Given the description of an element on the screen output the (x, y) to click on. 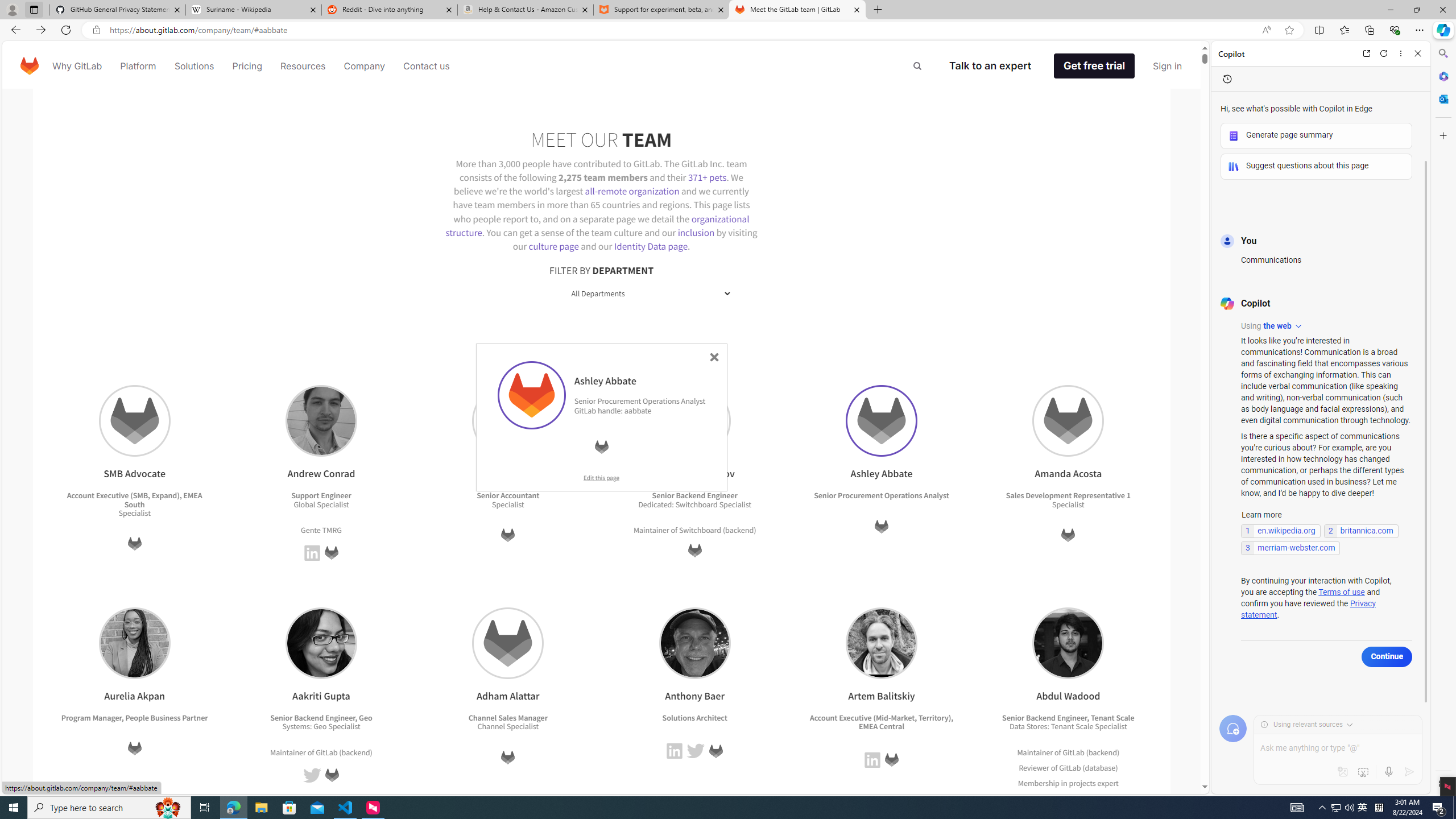
GitLab (1069, 767)
Anthony Baer (694, 642)
Help & Contact Us - Amazon Customer Service - Sleeping (525, 9)
Senior Accountant (508, 495)
all-remote organization (632, 191)
SMB Advocate (134, 420)
Ayesha Zubair (508, 420)
Suriname - Wikipedia (253, 9)
Solutions Architect (695, 717)
